Given the description of an element on the screen output the (x, y) to click on. 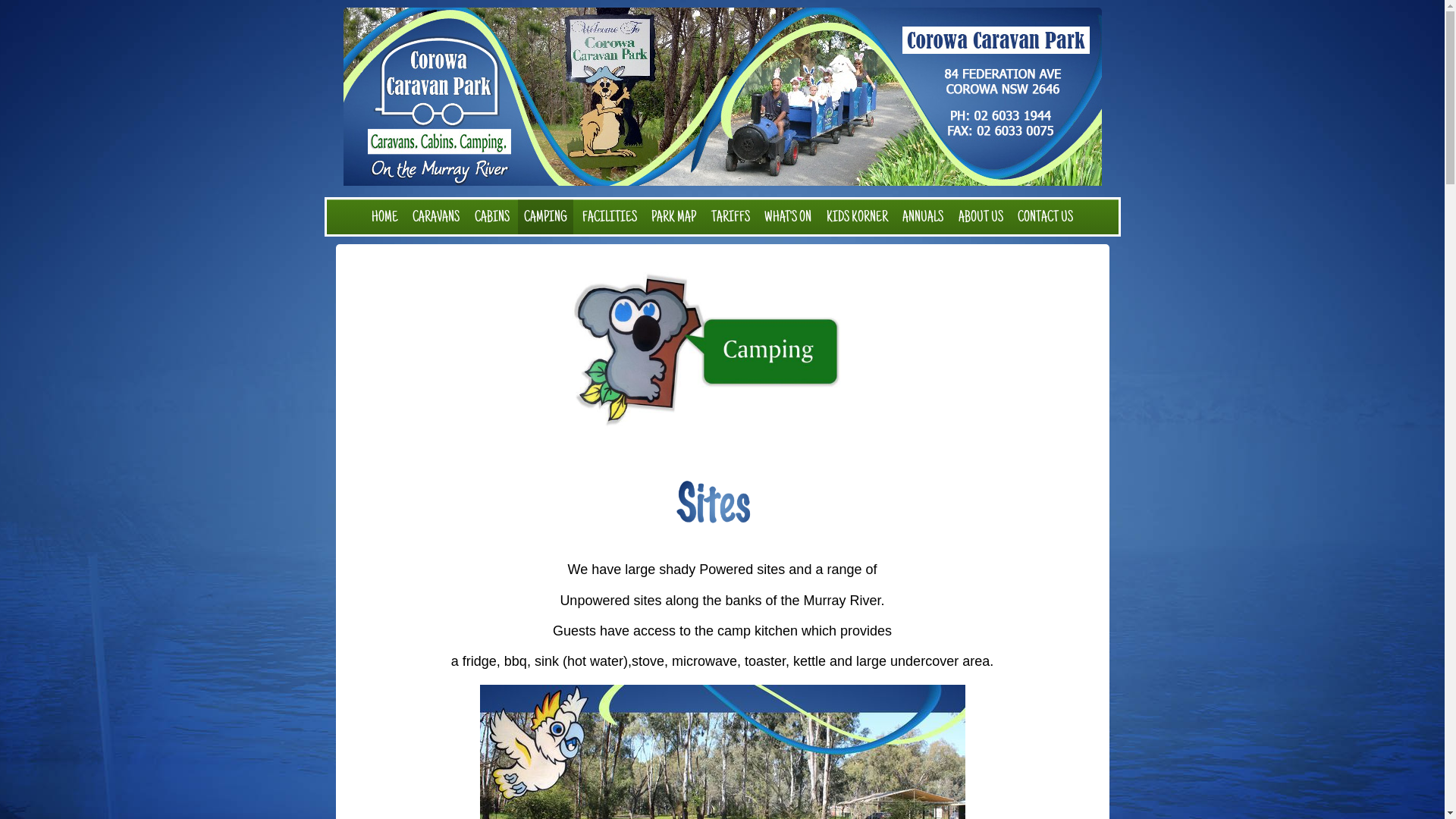
KIDS KORNER Element type: text (857, 217)
WHAT'S ON Element type: text (787, 217)
CONTACT US Element type: text (1045, 217)
ABOUT US Element type: text (980, 217)
TARIFFS Element type: text (730, 217)
PARK MAP Element type: text (673, 217)
CABINS Element type: text (491, 217)
HOME Element type: text (384, 217)
caravanssiteswording.png - large Element type: hover (722, 502)
CAMPING Element type: text (545, 217)
CARAVANS Element type: text (435, 217)
FACILITIES Element type: text (609, 217)
campingsignJPEG.jpg - large Element type: hover (722, 350)
ANNUALS Element type: text (922, 217)
